Given the description of an element on the screen output the (x, y) to click on. 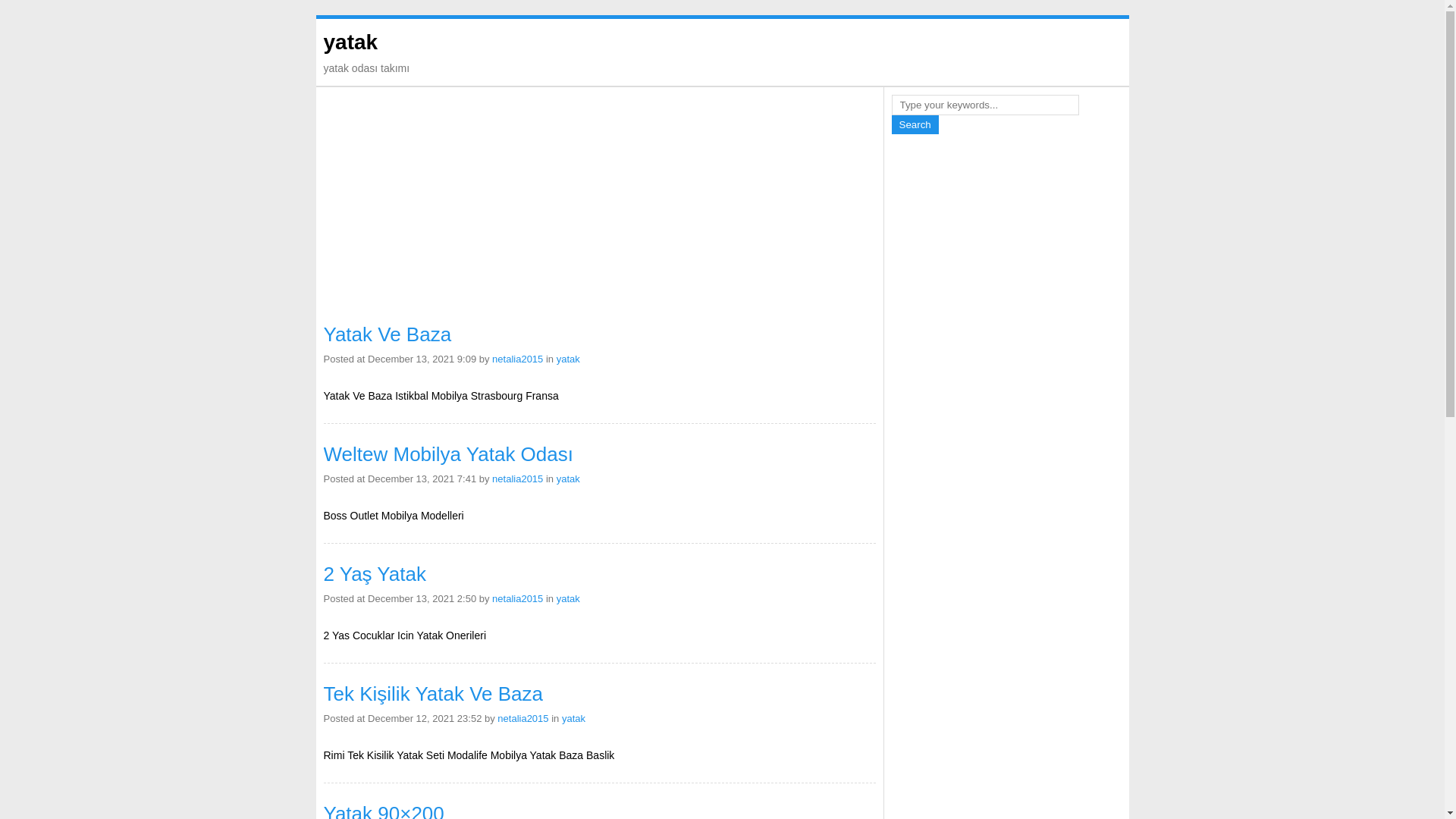
Advertisement Element type: hover (1005, 368)
yatak Element type: text (568, 598)
netalia2015 Element type: text (517, 358)
netalia2015 Element type: text (517, 478)
yatak Element type: text (350, 41)
Advertisement Element type: hover (599, 206)
Search Element type: text (914, 124)
yatak Element type: text (568, 358)
netalia2015 Element type: text (517, 598)
Yatak Ve Baza Element type: text (387, 334)
yatak Element type: text (573, 718)
yatak Element type: text (568, 478)
netalia2015 Element type: text (522, 718)
